Given the description of an element on the screen output the (x, y) to click on. 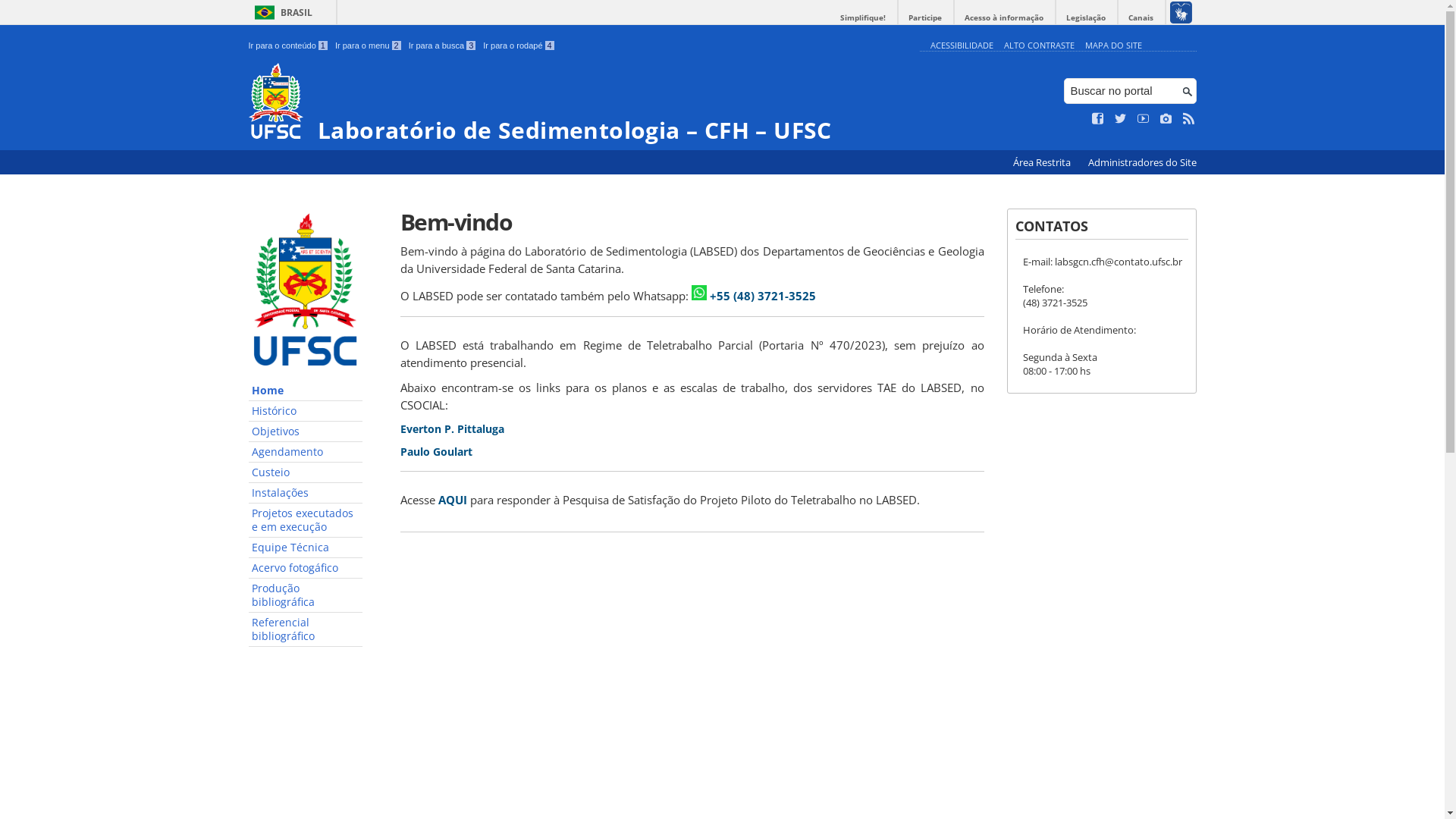
+55 (48) 3721-3525 Element type: text (762, 295)
Siga no Twitter Element type: hover (1120, 118)
MAPA DO SITE Element type: text (1112, 44)
Custeio Element type: text (305, 472)
Bem-vindo Element type: text (692, 221)
ALTO CONTRASTE Element type: text (1039, 44)
AQUI Element type: text (452, 499)
Everton P. Pittaluga Element type: text (452, 428)
Ir para o menu 2 Element type: text (368, 45)
Curta no Facebook Element type: hover (1098, 118)
BRASIL Element type: text (280, 12)
Objetivos Element type: text (305, 431)
Simplifique! Element type: text (862, 18)
ACESSIBILIDADE Element type: text (960, 44)
Administradores do Site Element type: text (1141, 162)
Canais Element type: text (1140, 18)
Veja no Instagram Element type: hover (1166, 118)
Paulo Goulart Element type: text (436, 451)
Home Element type: text (305, 390)
Participe Element type: text (924, 18)
Agendamento Element type: text (305, 452)
Ir para a busca 3 Element type: text (442, 45)
